Given the description of an element on the screen output the (x, y) to click on. 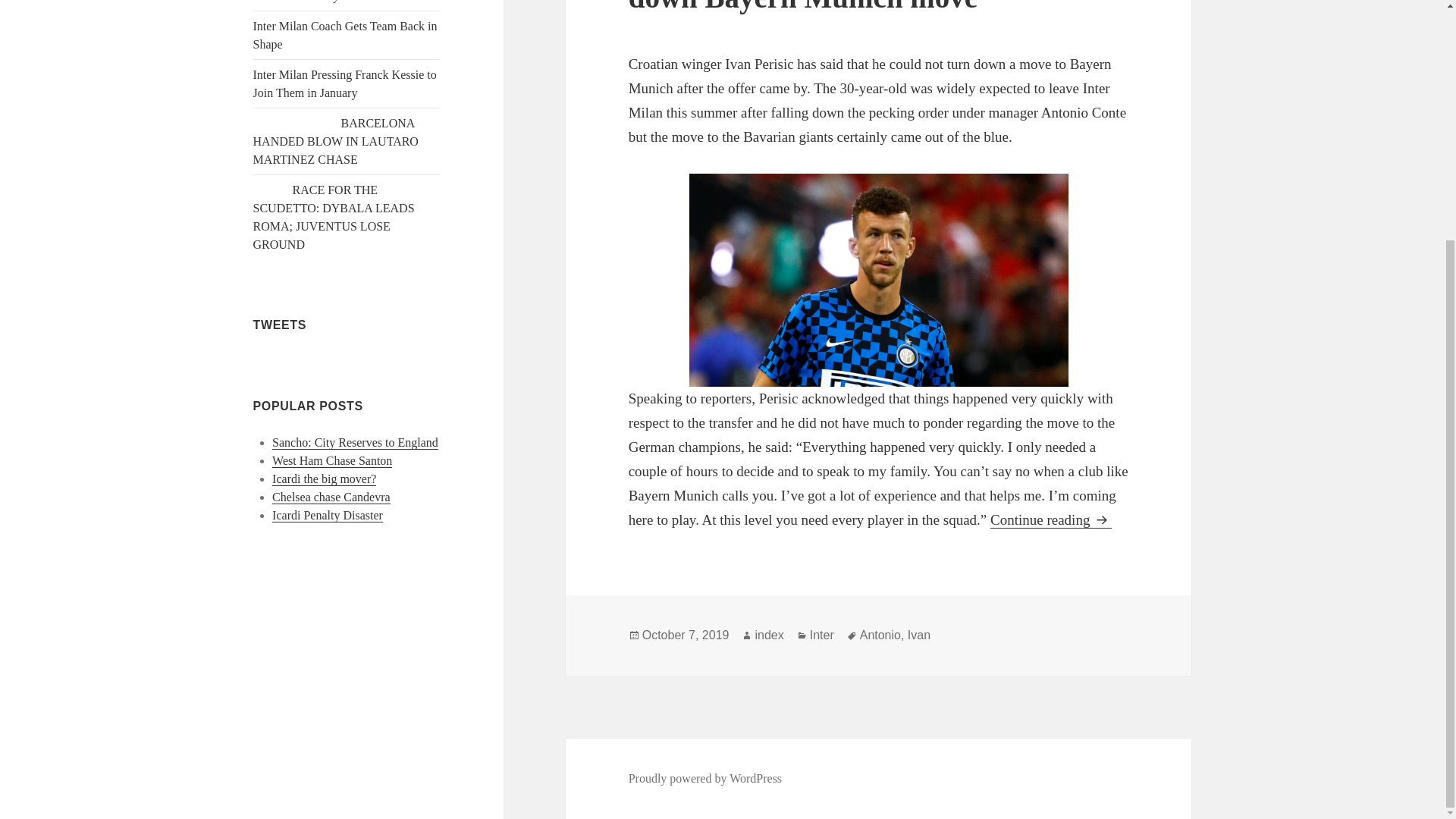
Inter (821, 635)
Sancho: City Reserves to England (355, 442)
index (768, 635)
Antonio (880, 635)
Icardi the big mover? (323, 479)
Chelsea chase Candevra (331, 497)
West Ham Chase Santon (331, 460)
Ivan (918, 635)
Inter Milan Coach Gets Team Back in Shape (345, 34)
Proudly powered by WordPress (704, 778)
Inter Milan Pressing Franck Kessie to Join Them in January (344, 83)
